Given the description of an element on the screen output the (x, y) to click on. 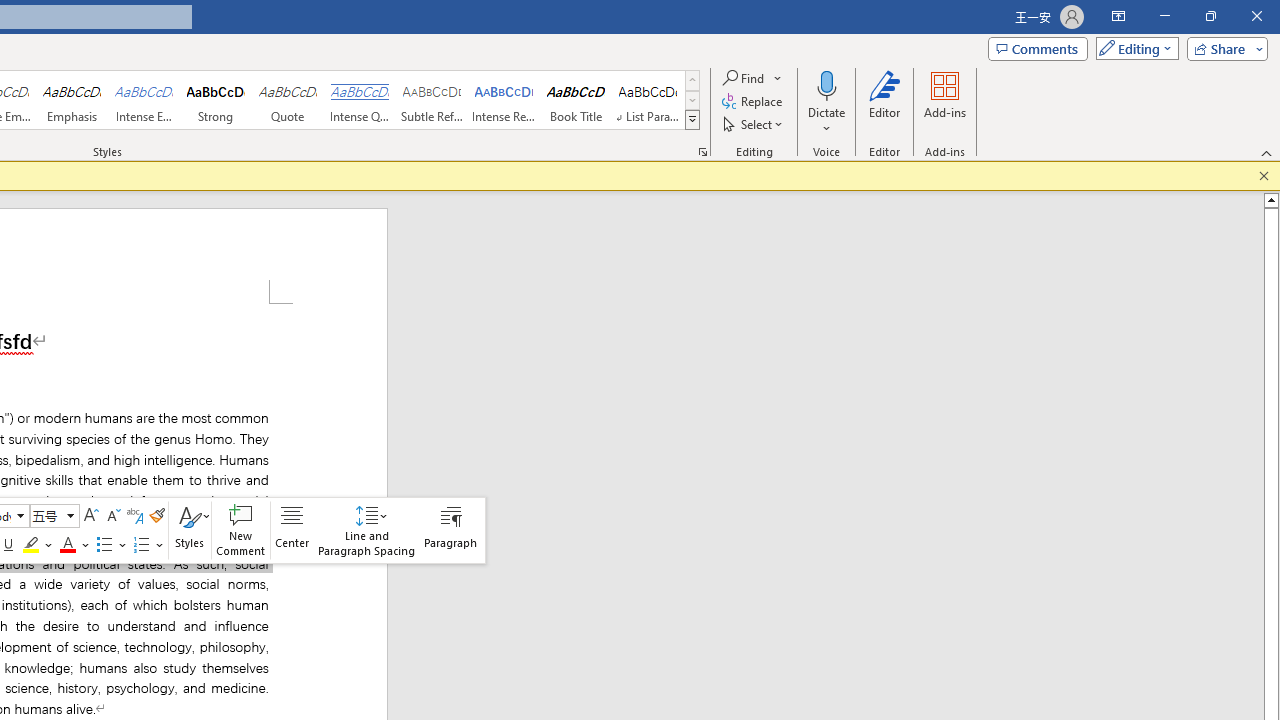
Subtle Reference (431, 100)
Emphasis (71, 100)
Strong (216, 100)
Font Color Red (68, 544)
